Given the description of an element on the screen output the (x, y) to click on. 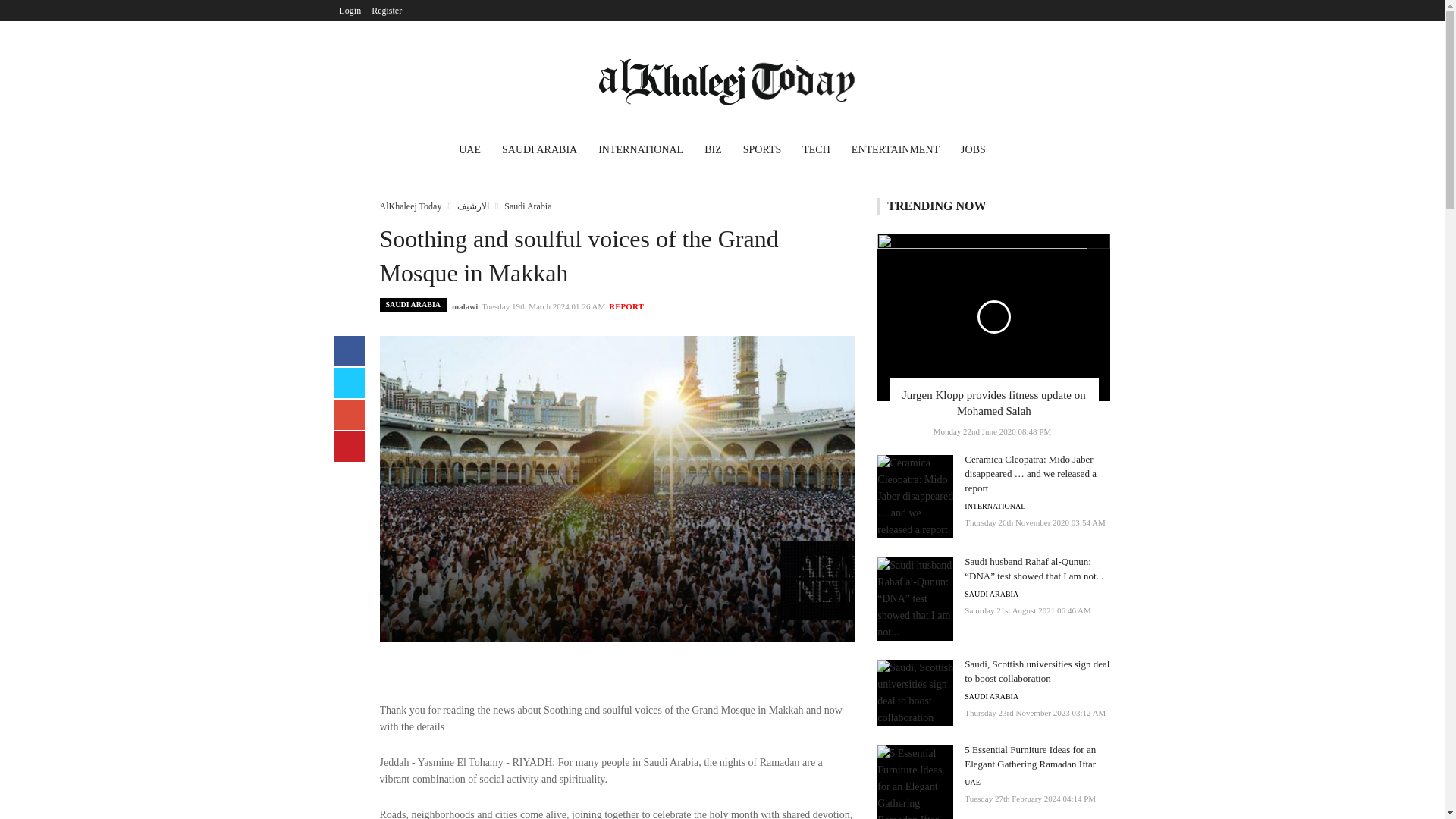
UAE (470, 151)
malawi (464, 306)
AlKhaleej Today (409, 205)
ENTERTAINMENT (895, 151)
BIZ (713, 151)
TECH (816, 151)
Login (349, 10)
SPORTS (762, 151)
JOBS (972, 151)
REPORT (625, 306)
